Given the description of an element on the screen output the (x, y) to click on. 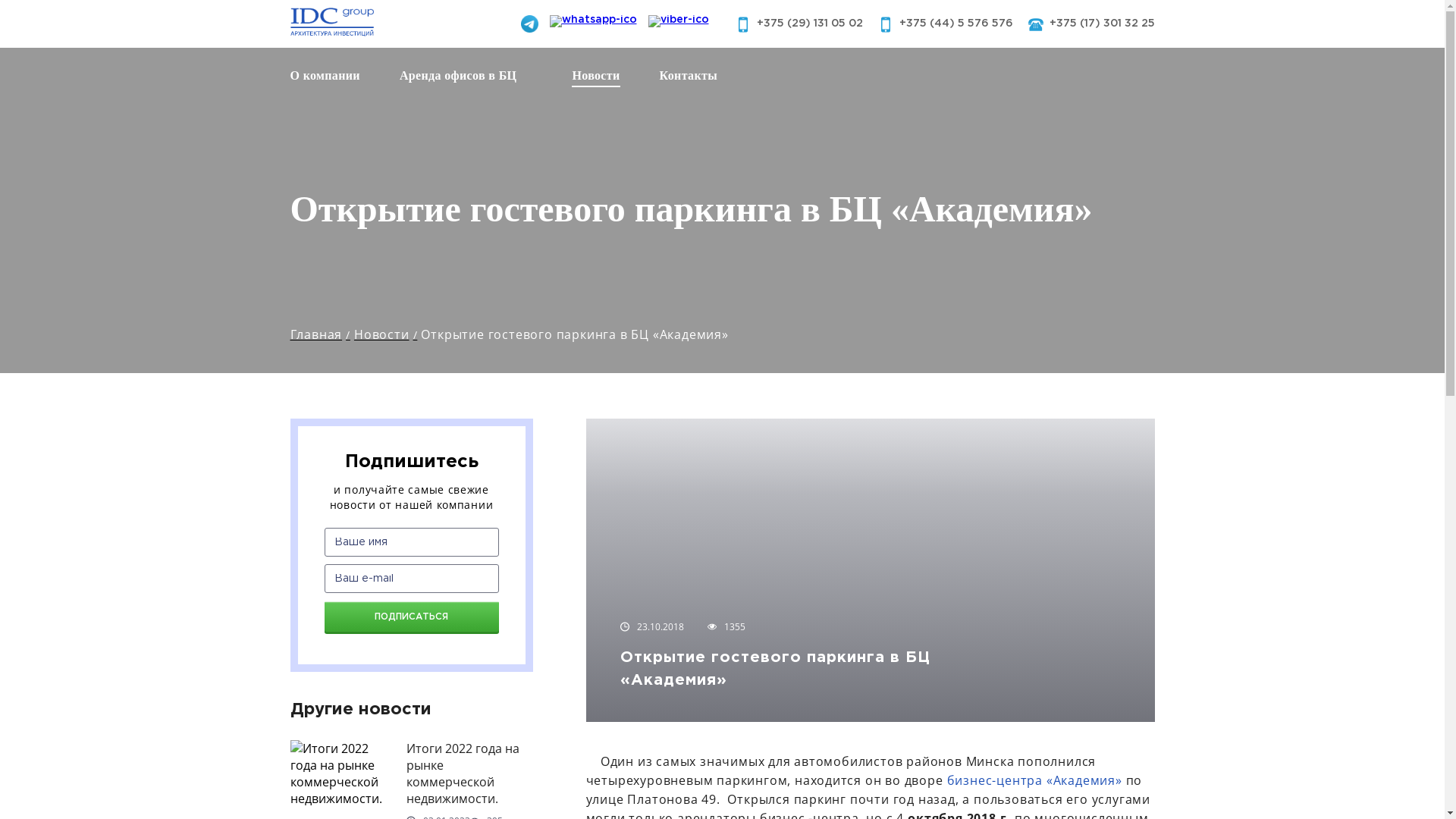
+375 (29) 131 05 02 Element type: text (809, 23)
+375 (44) 5 576 576 Element type: text (956, 23)
+375 (17) 301 32 25 Element type: text (1101, 23)
